Given the description of an element on the screen output the (x, y) to click on. 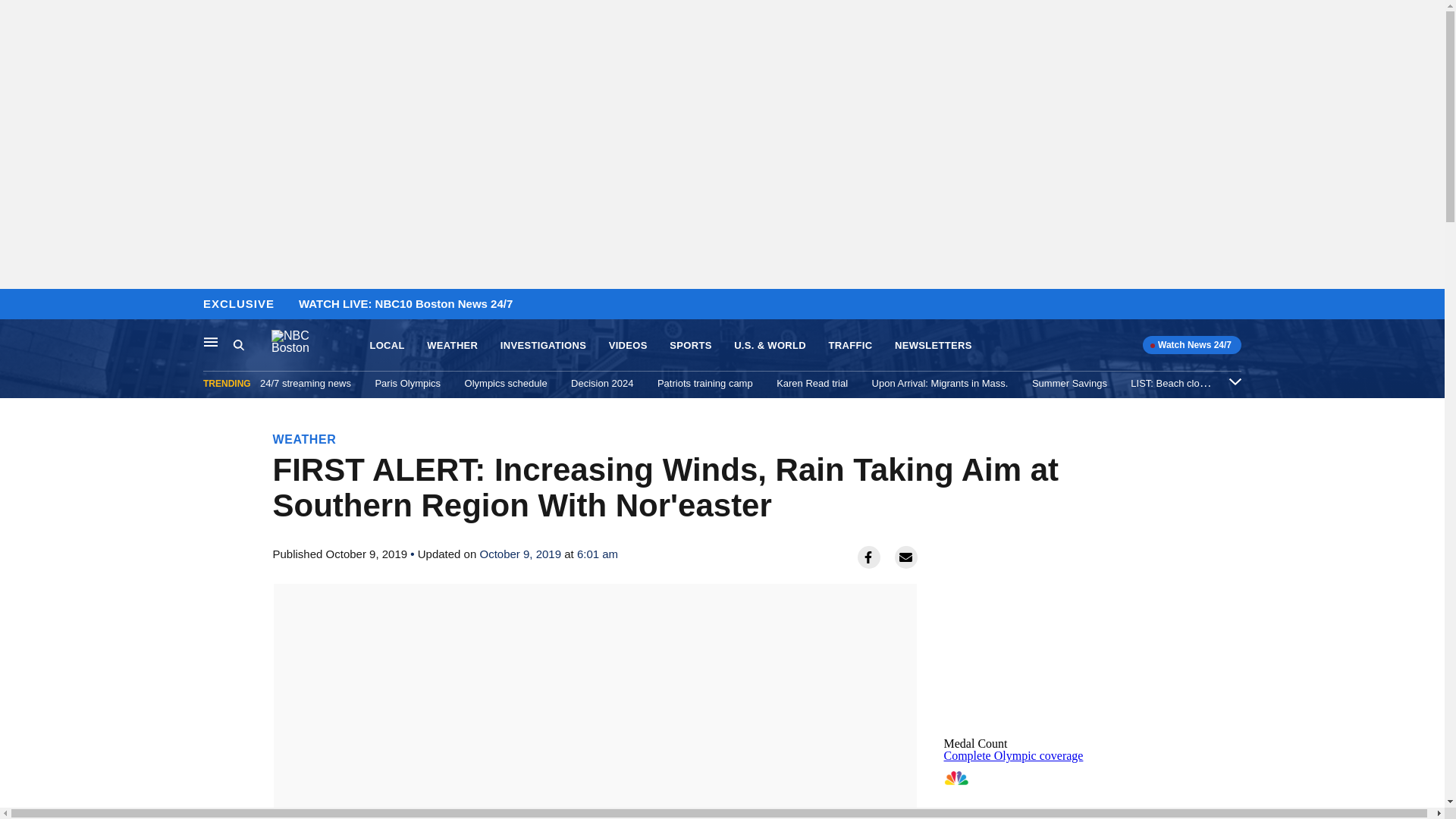
Paris Olympics (407, 383)
WEATHER (451, 345)
Karen Read trial (811, 383)
Search (252, 345)
NEWSLETTERS (933, 345)
WEATHER (304, 439)
VIDEOS (627, 345)
Patriots training camp (705, 383)
Main Navigation (210, 341)
Olympics schedule (505, 383)
Decision 2024 (601, 383)
Expand (1234, 381)
Summer Savings (1069, 383)
Upon Arrival: Migrants in Mass. (940, 383)
Skip to content (16, 304)
